Given the description of an element on the screen output the (x, y) to click on. 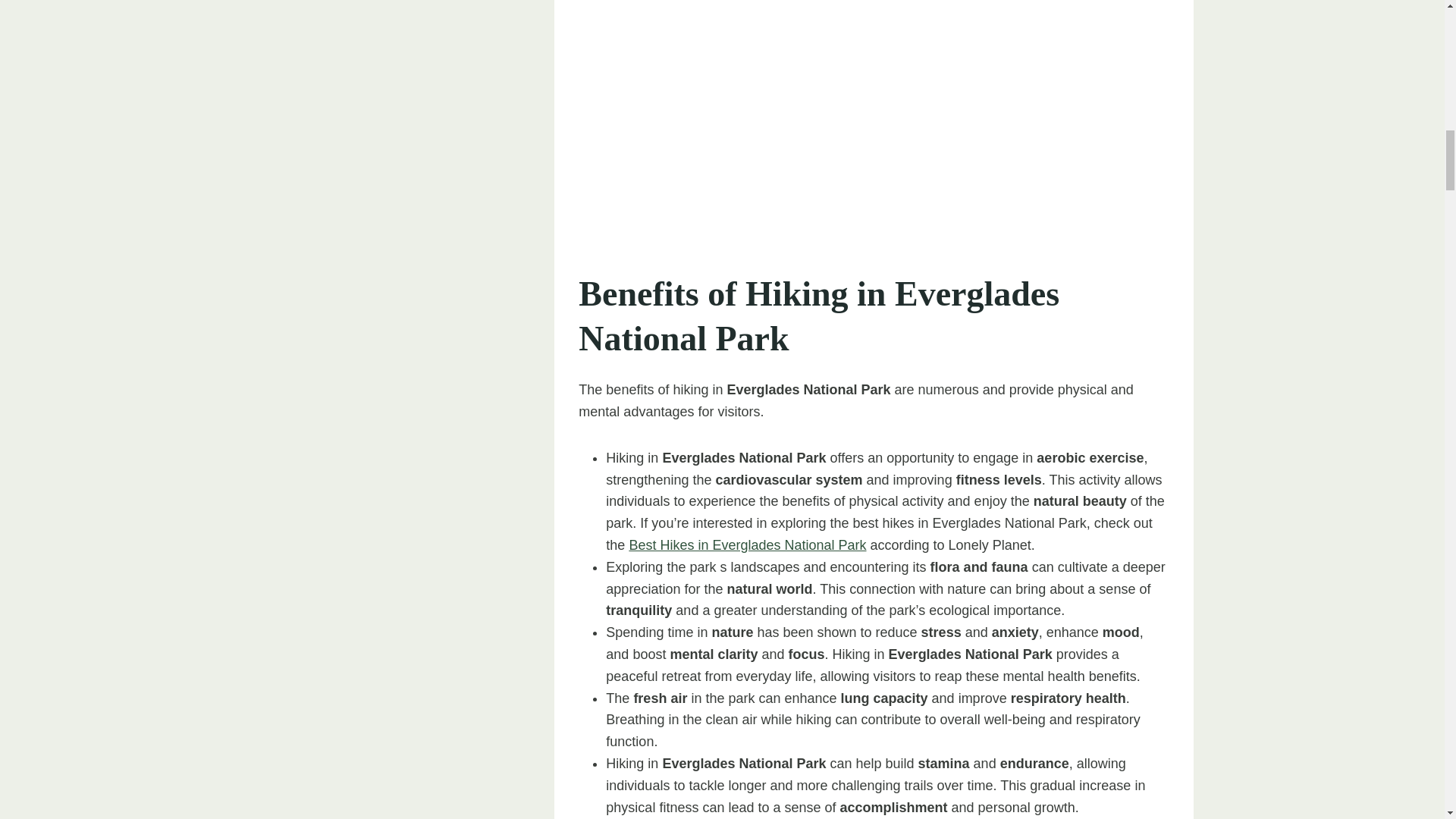
Best Hikes in Everglades National Park (747, 544)
